Given the description of an element on the screen output the (x, y) to click on. 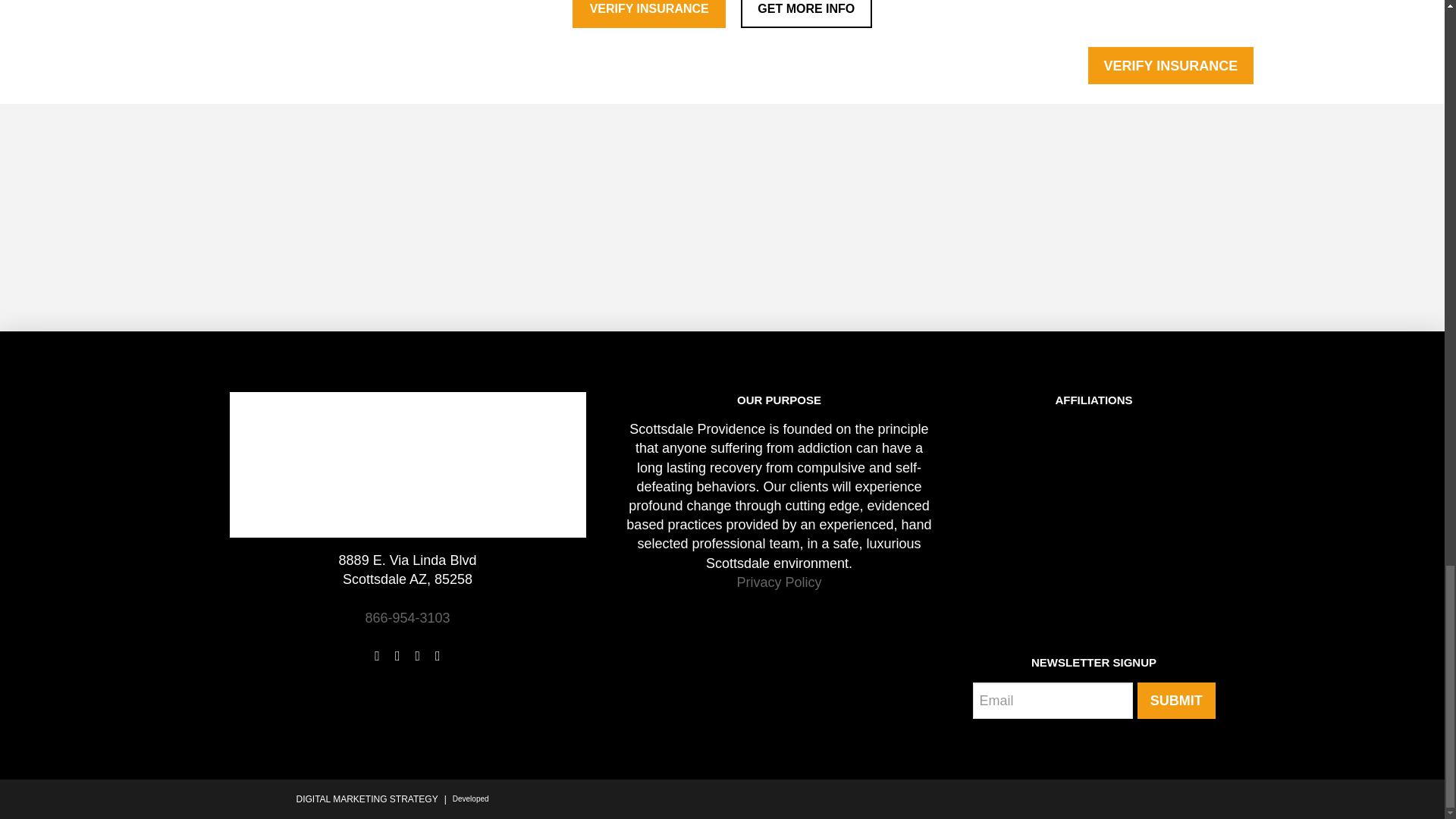
Submit (1175, 700)
Privacy Policy (778, 581)
GET MORE INFO (806, 14)
866-954-3103 (407, 617)
Submit (1175, 700)
VERIFY INSURANCE (648, 14)
